Given the description of an element on the screen output the (x, y) to click on. 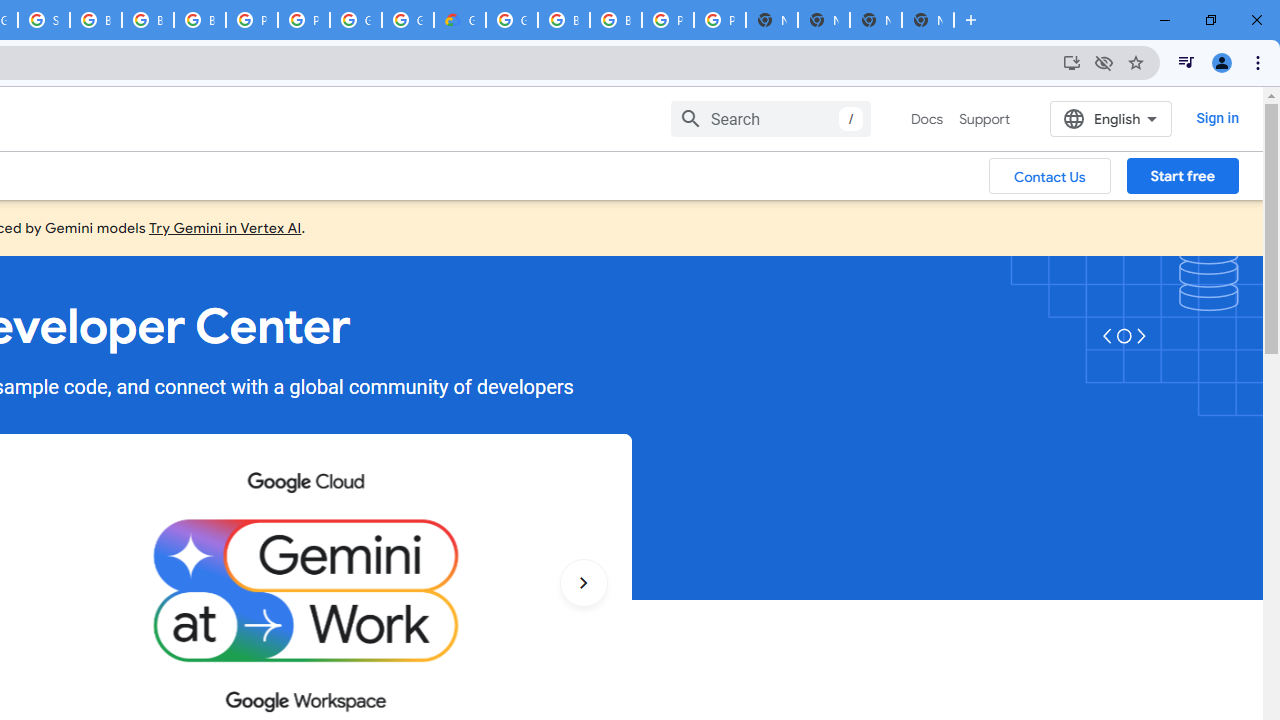
English (1110, 118)
Start free (1182, 175)
Sign in - Google Accounts (43, 20)
Install Google Cloud (1071, 62)
Browse Chrome as a guest - Computer - Google Chrome Help (95, 20)
